Given the description of an element on the screen output the (x, y) to click on. 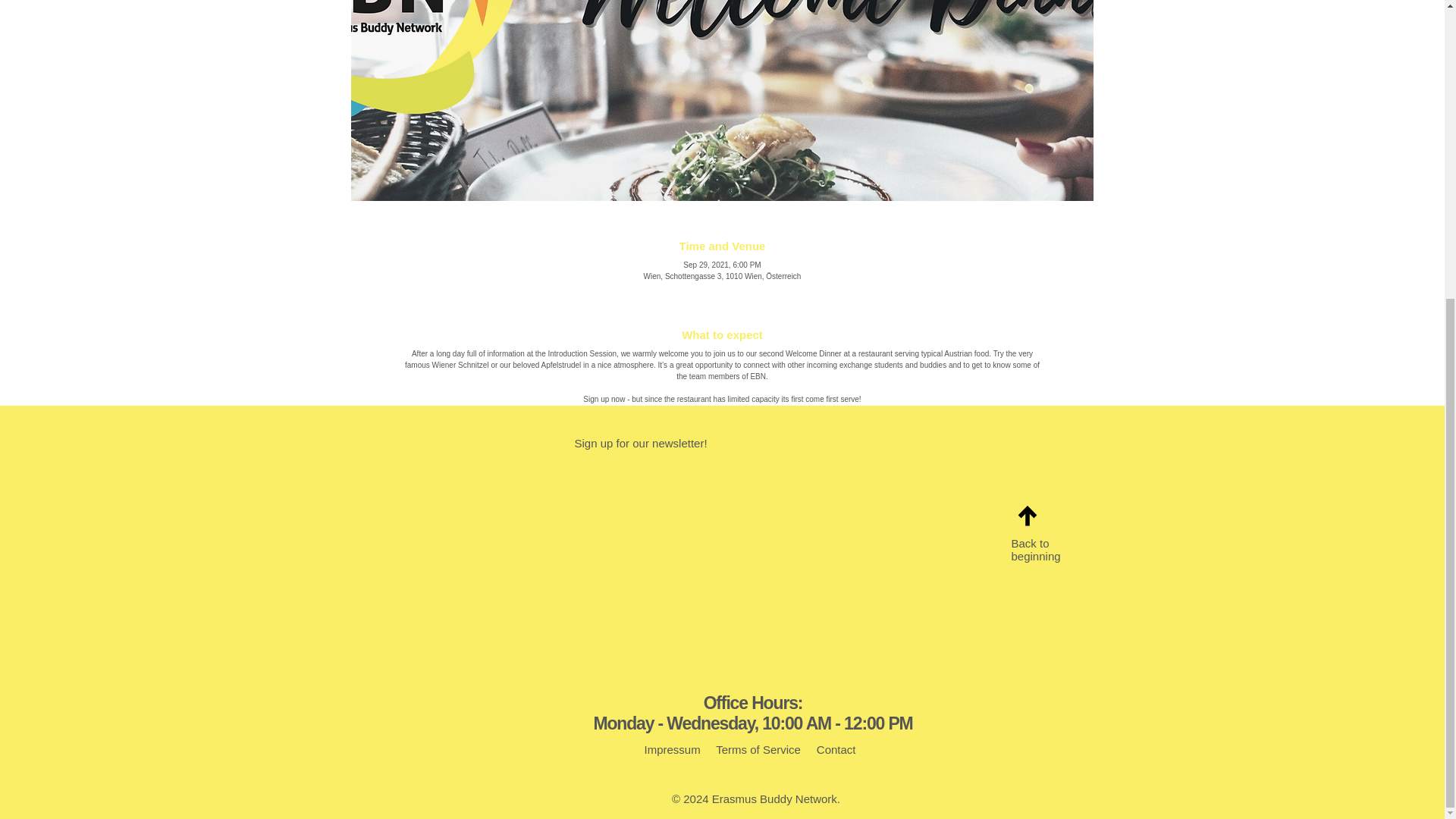
Back to (1030, 543)
Impressum (671, 748)
 Contact (834, 748)
Terms of Service (758, 748)
beginning (1036, 555)
